Given the description of an element on the screen output the (x, y) to click on. 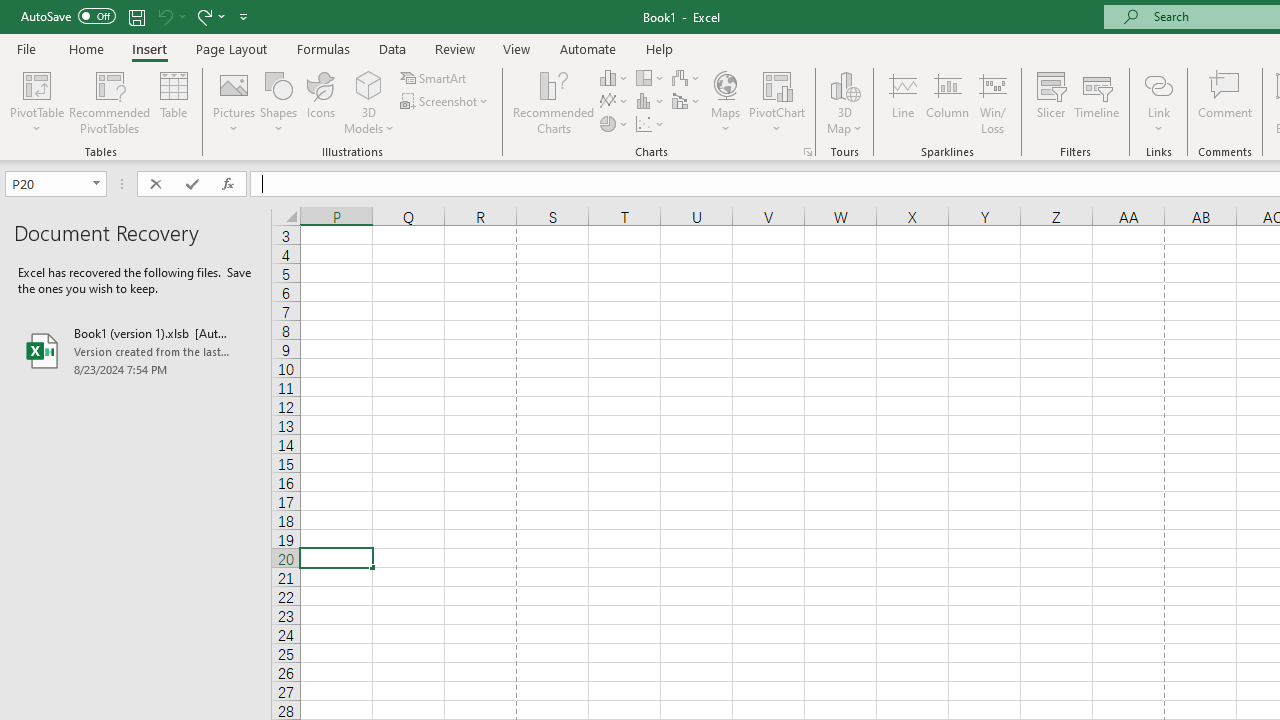
Insert Scatter (X, Y) or Bubble Chart (651, 124)
Pictures (234, 102)
Link (1158, 84)
PivotTable (36, 84)
Timeline (1097, 102)
Shapes (278, 102)
Win/Loss (992, 102)
